Given the description of an element on the screen output the (x, y) to click on. 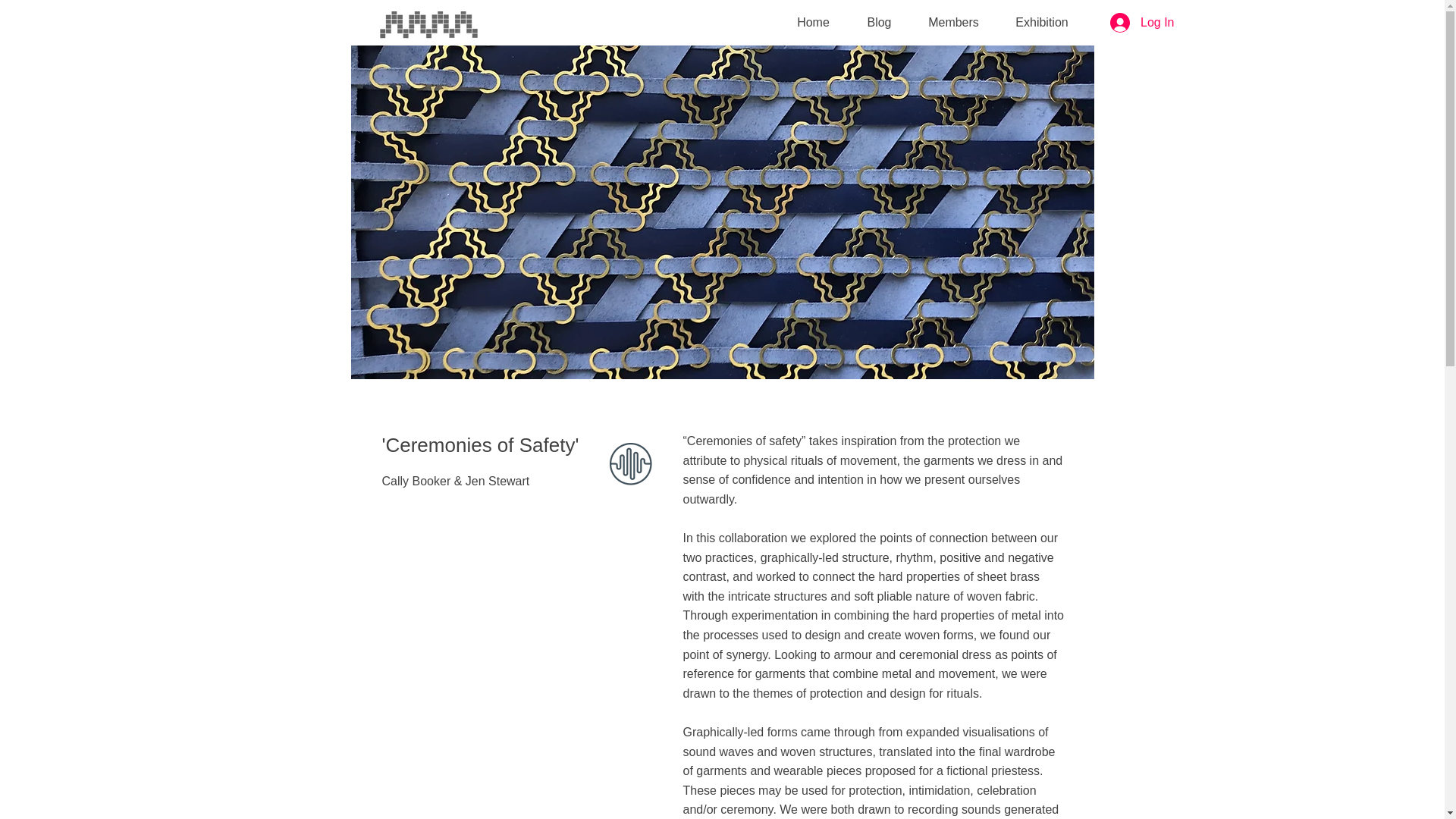
Members (952, 22)
Blog (878, 22)
Log In (1142, 22)
Home (812, 22)
Exhibition (1040, 22)
